Given the description of an element on the screen output the (x, y) to click on. 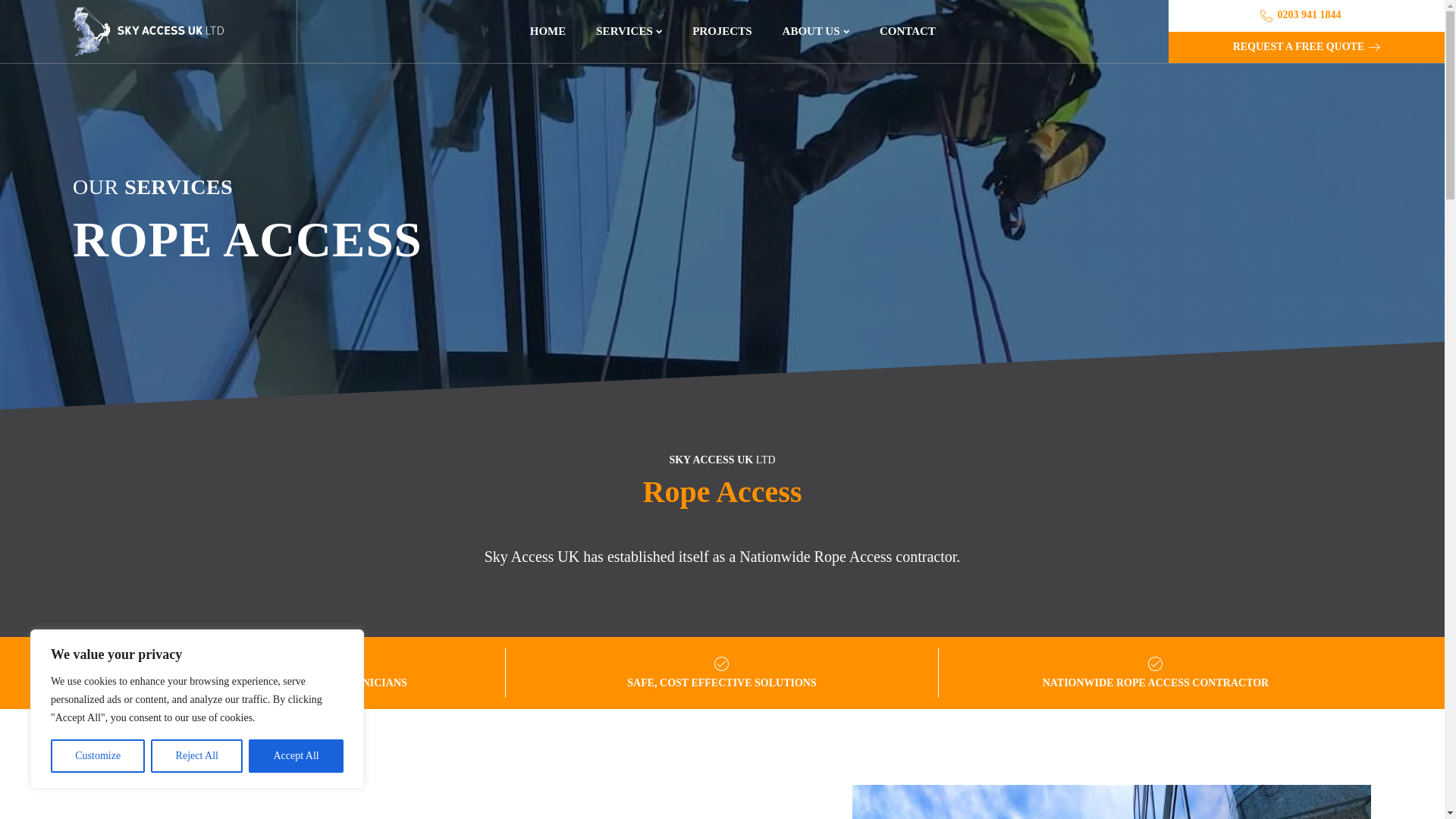
PROJECTS (722, 31)
SERVICES (628, 31)
CONTACT (907, 31)
ABOUT US (815, 31)
Reject All (197, 756)
Customize (97, 756)
Accept All (295, 756)
HOME (547, 31)
